Given the description of an element on the screen output the (x, y) to click on. 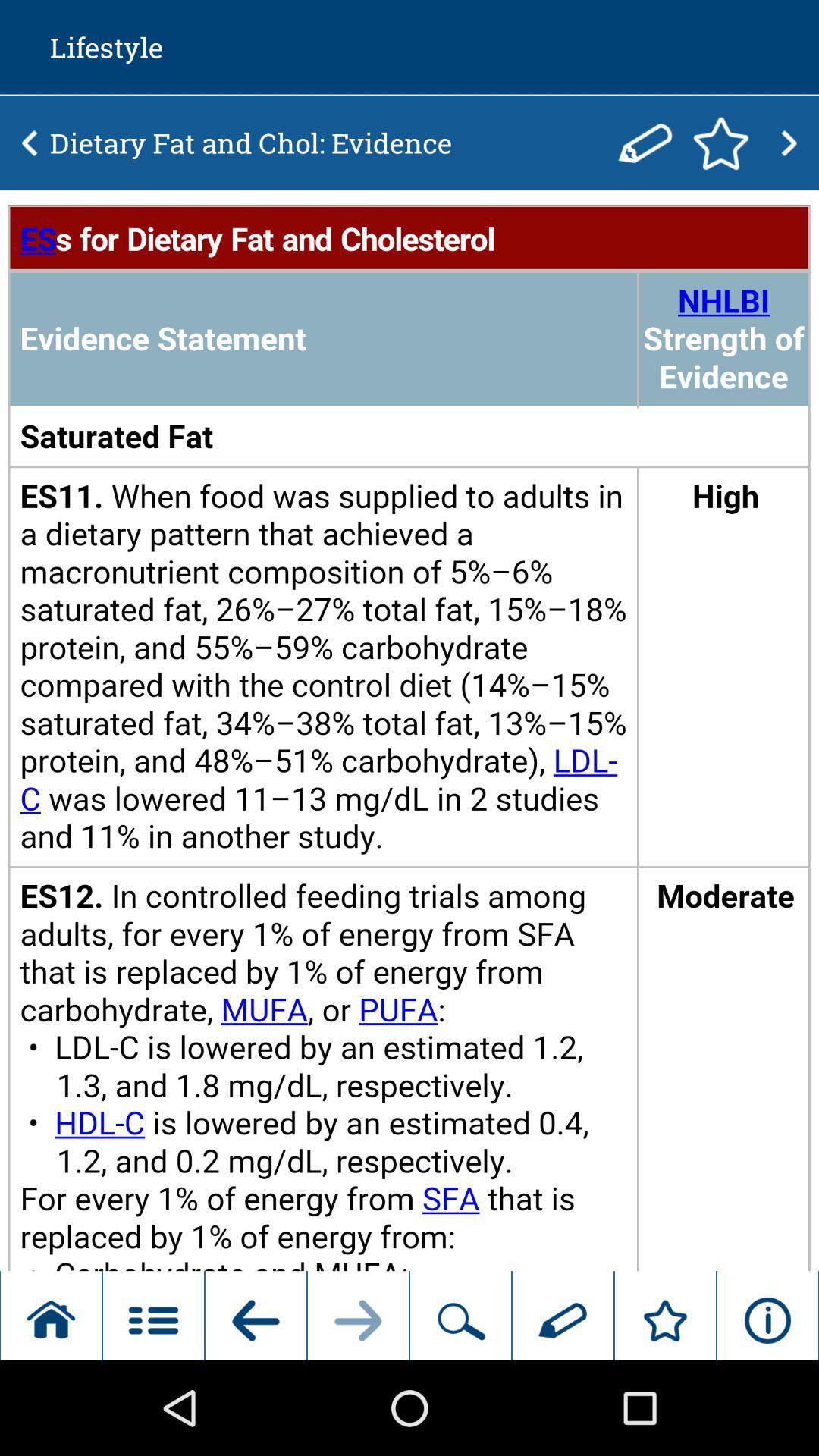
info option (409, 731)
